Given the description of an element on the screen output the (x, y) to click on. 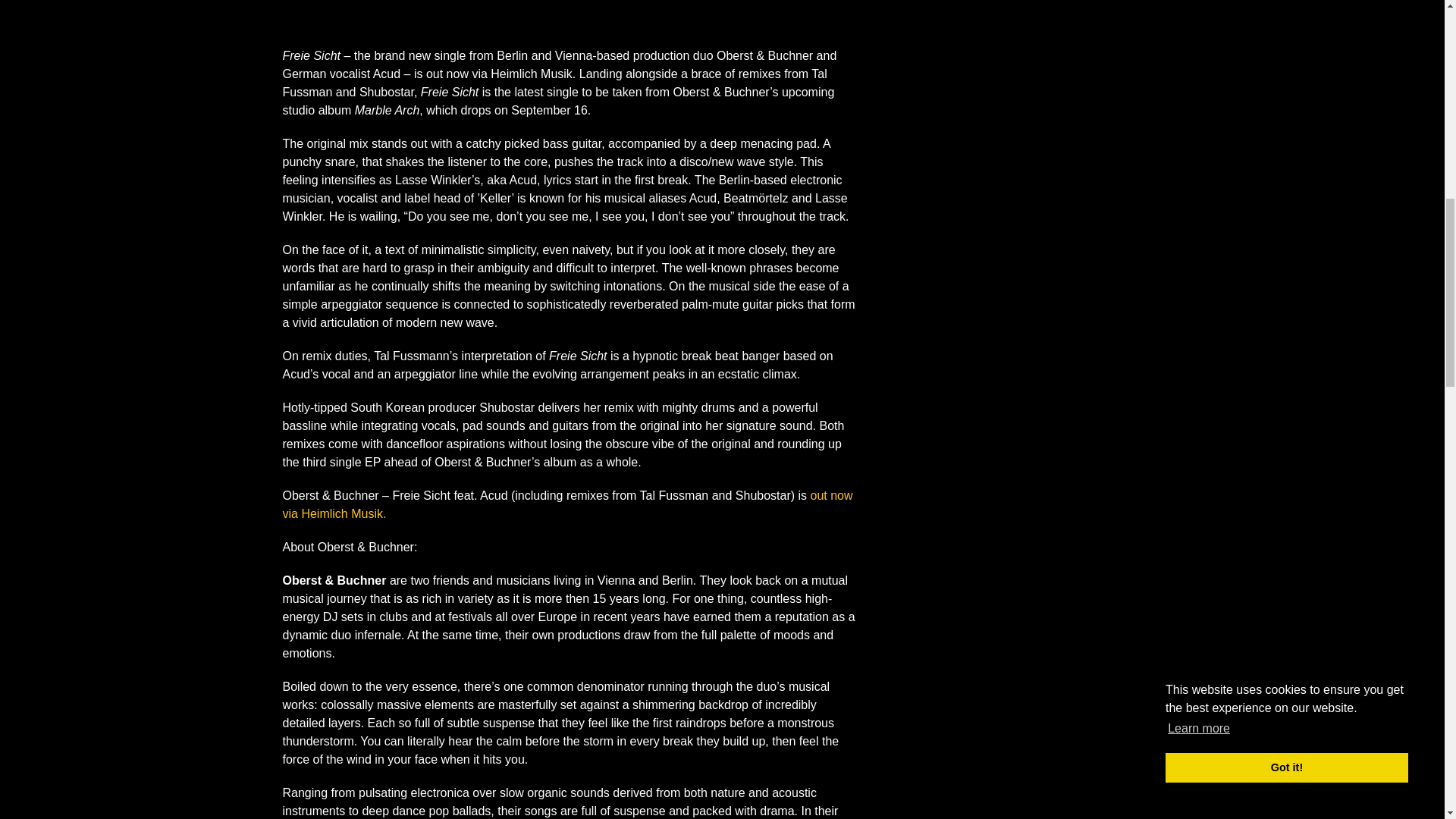
Advertisement (1022, 33)
